Given the description of an element on the screen output the (x, y) to click on. 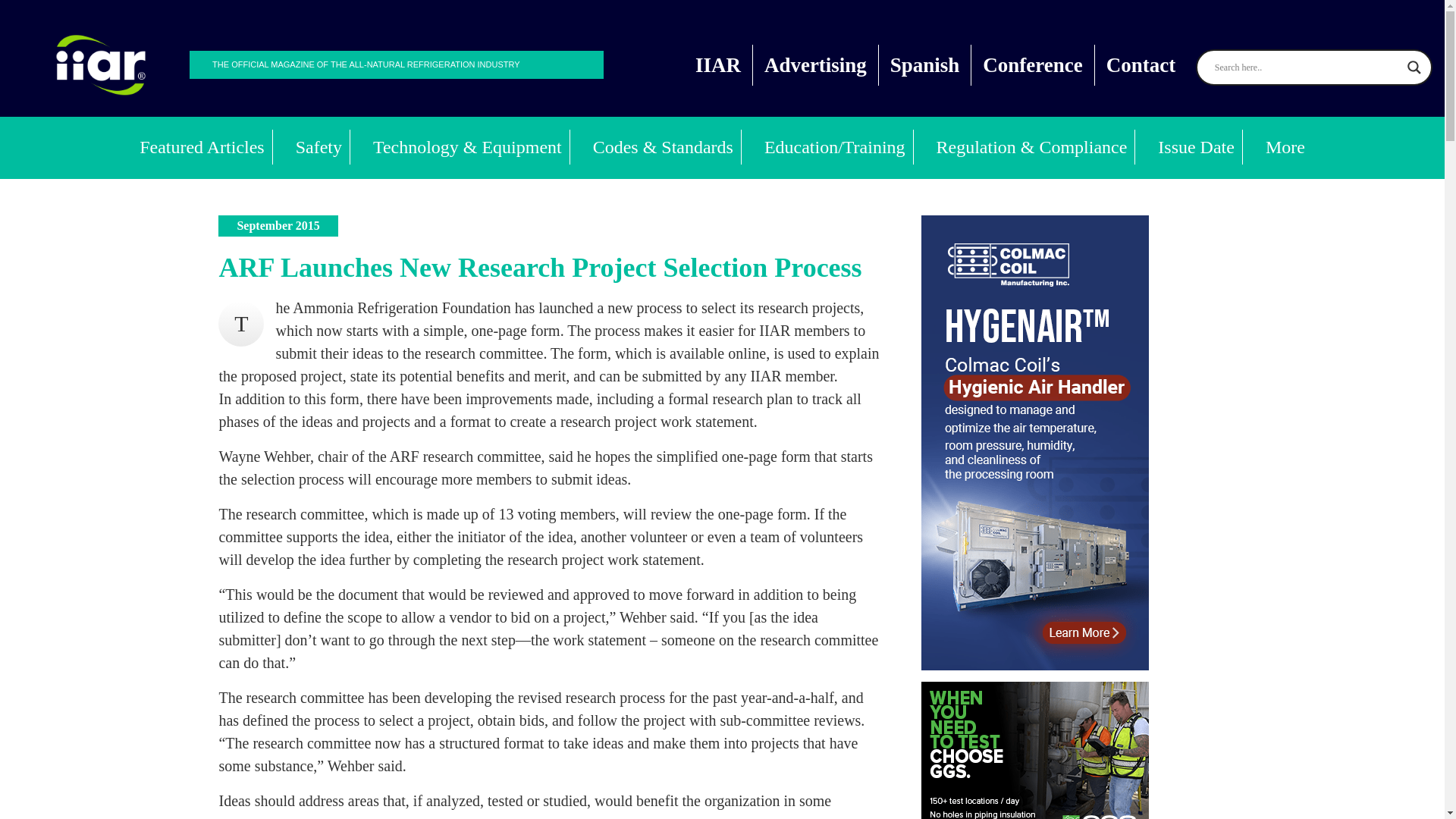
Spanish (925, 65)
Conference (1032, 65)
IIAR (100, 65)
Featured Articles (202, 146)
Safety (319, 146)
IIAR (718, 65)
Issue Date (1196, 146)
Contact (1140, 65)
Advertising (815, 65)
